Given the description of an element on the screen output the (x, y) to click on. 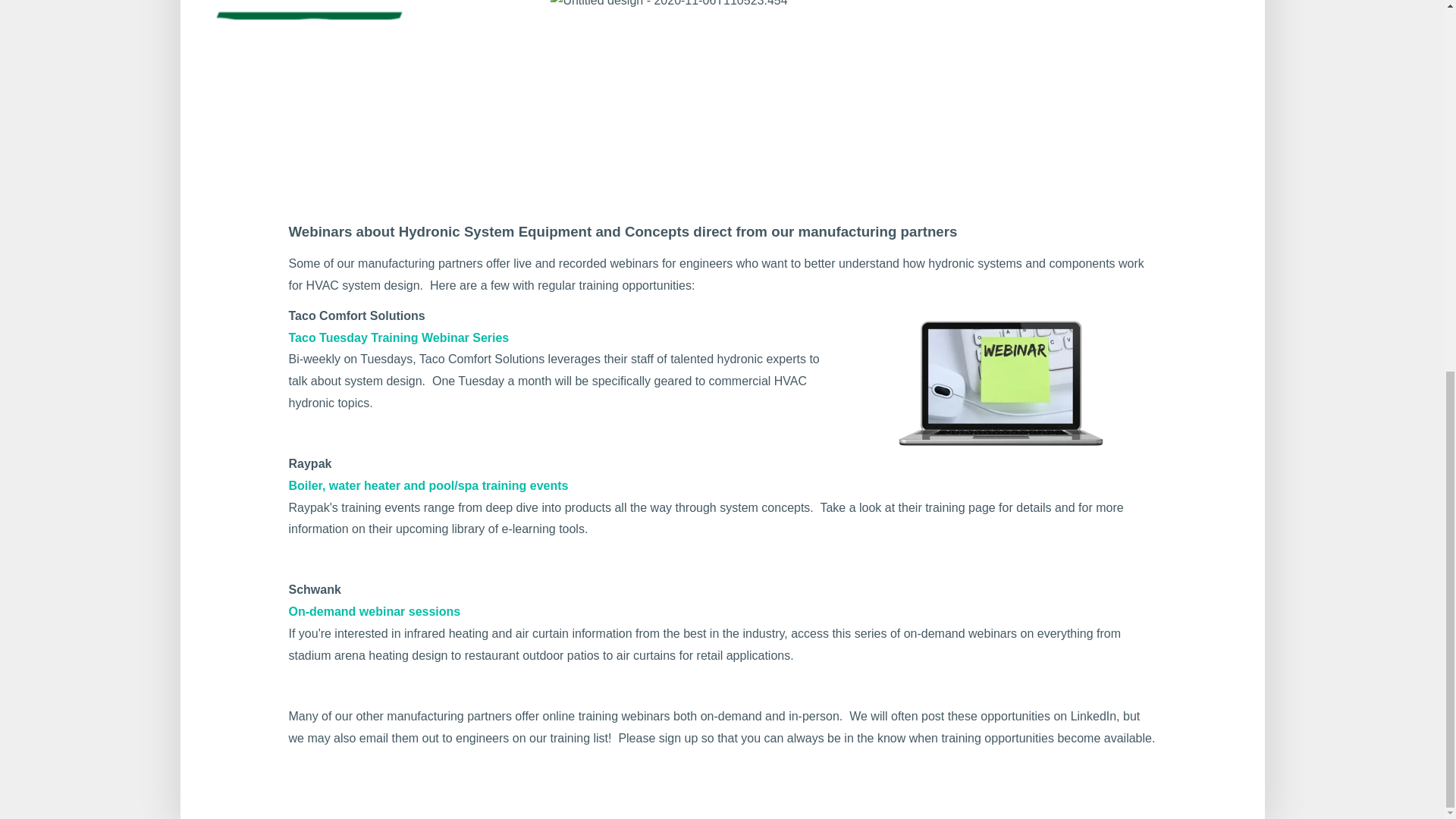
On-demand webinar sessions (374, 611)
Untitled design - 2020-11-06T110535.734 (351, 74)
Taco Tuesday Training Webinar Series (398, 337)
Untitled design - 2020-11-06T110523.454 (668, 6)
